Given the description of an element on the screen output the (x, y) to click on. 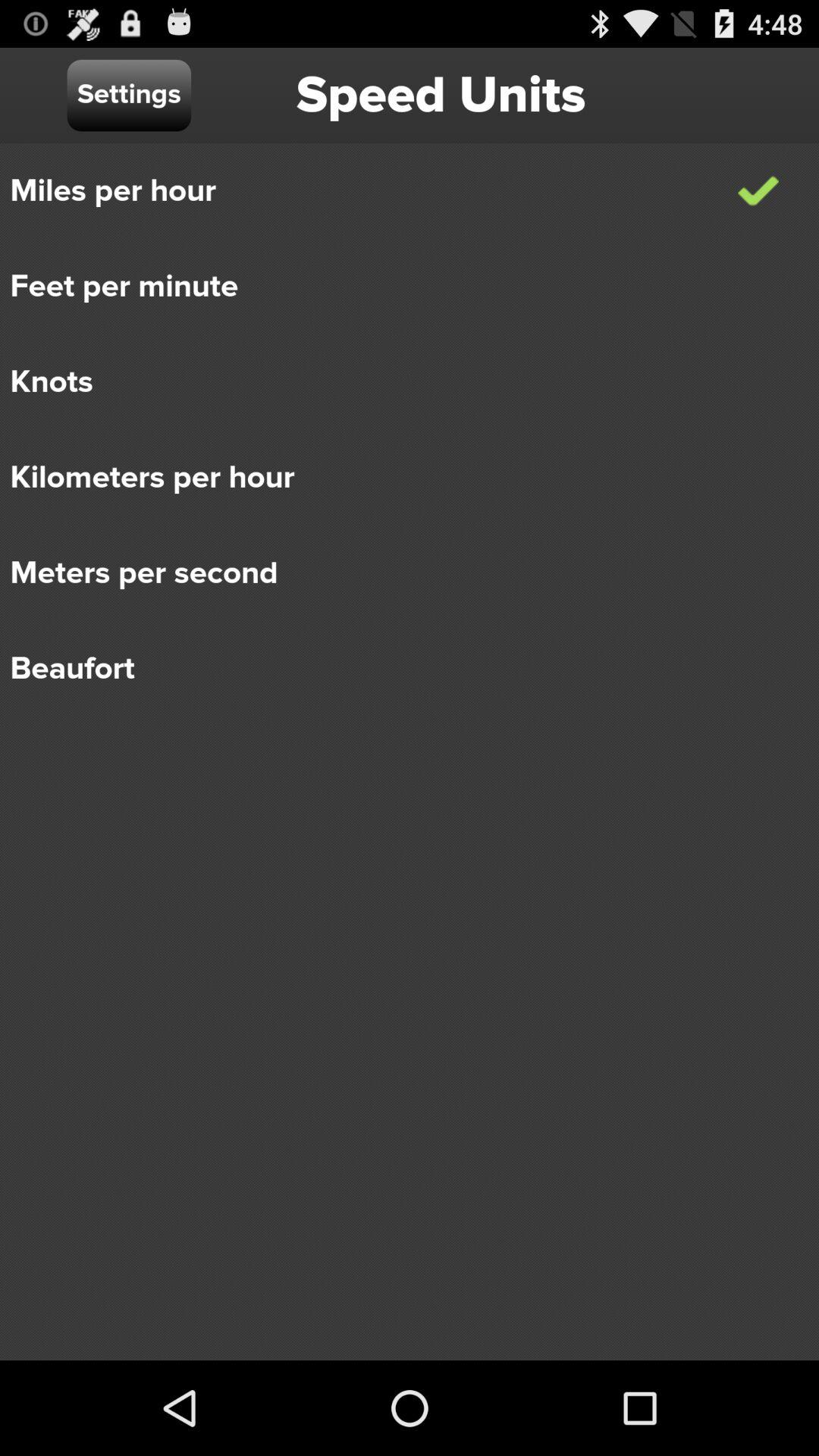
launch meters per second icon (399, 572)
